Given the description of an element on the screen output the (x, y) to click on. 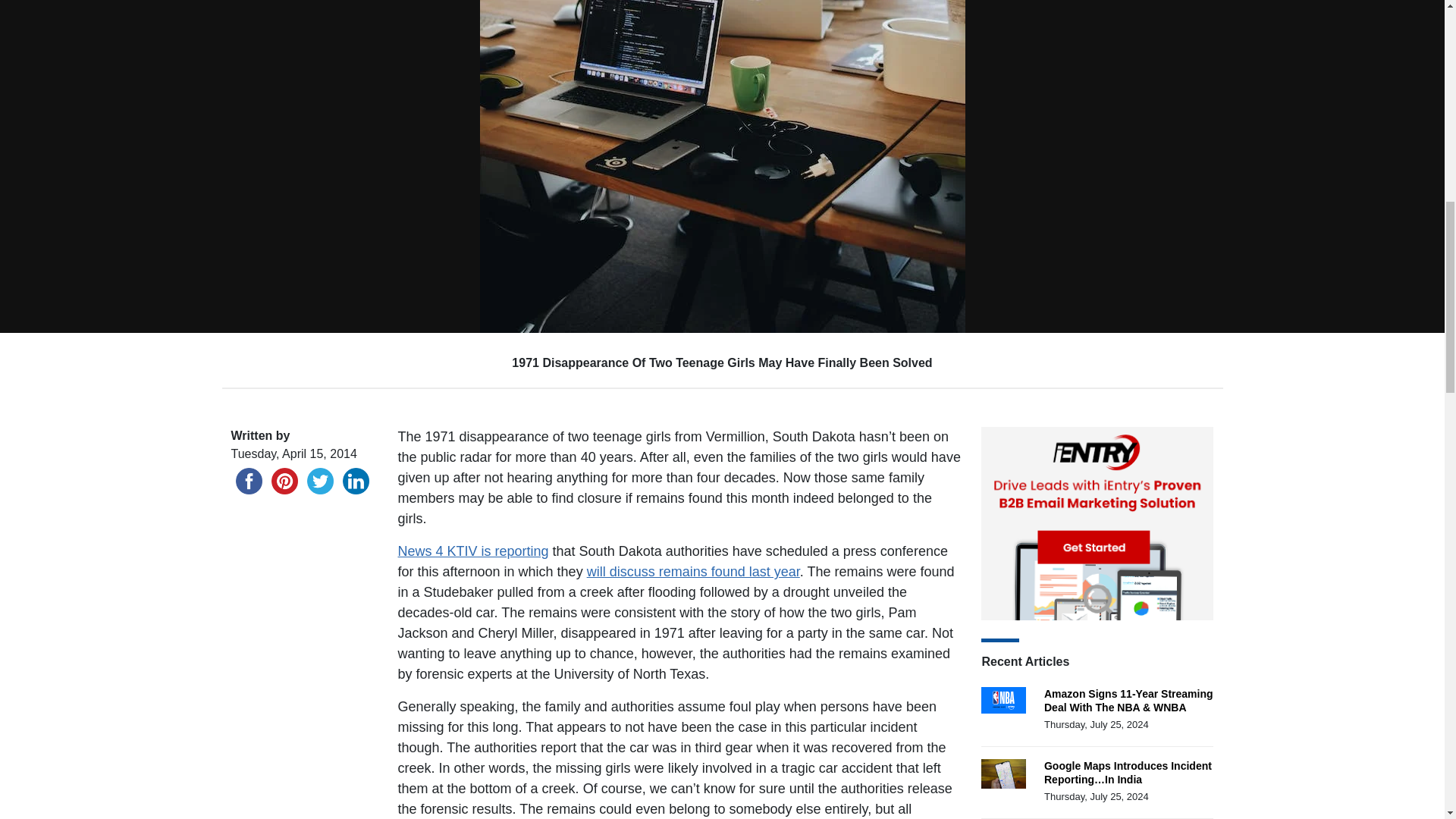
pinterest (284, 480)
facebook (248, 480)
twitter (319, 480)
linkedin (355, 480)
